Given the description of an element on the screen output the (x, y) to click on. 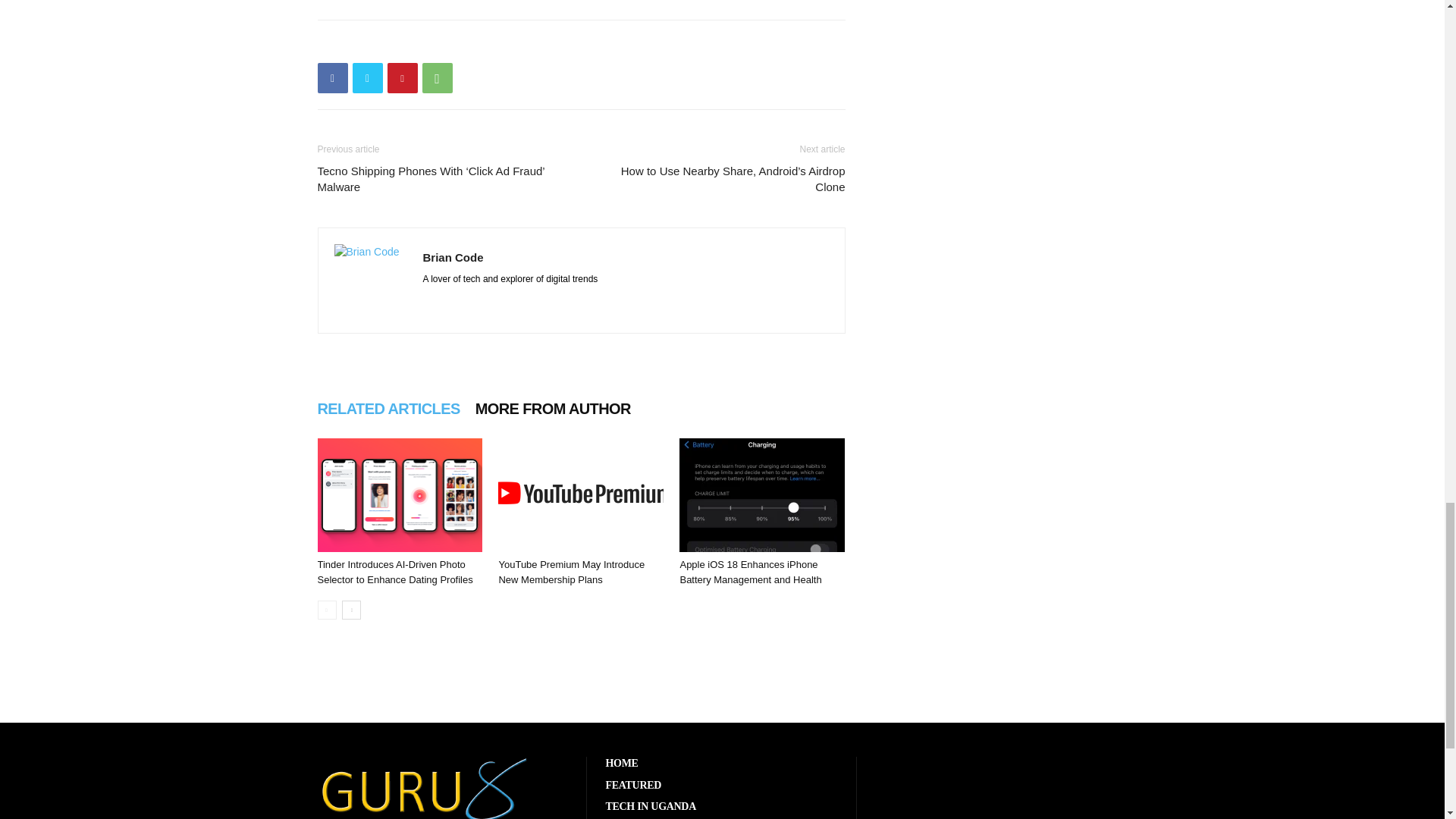
bottomFacebookLike (430, 44)
Facebook (332, 78)
